Given the description of an element on the screen output the (x, y) to click on. 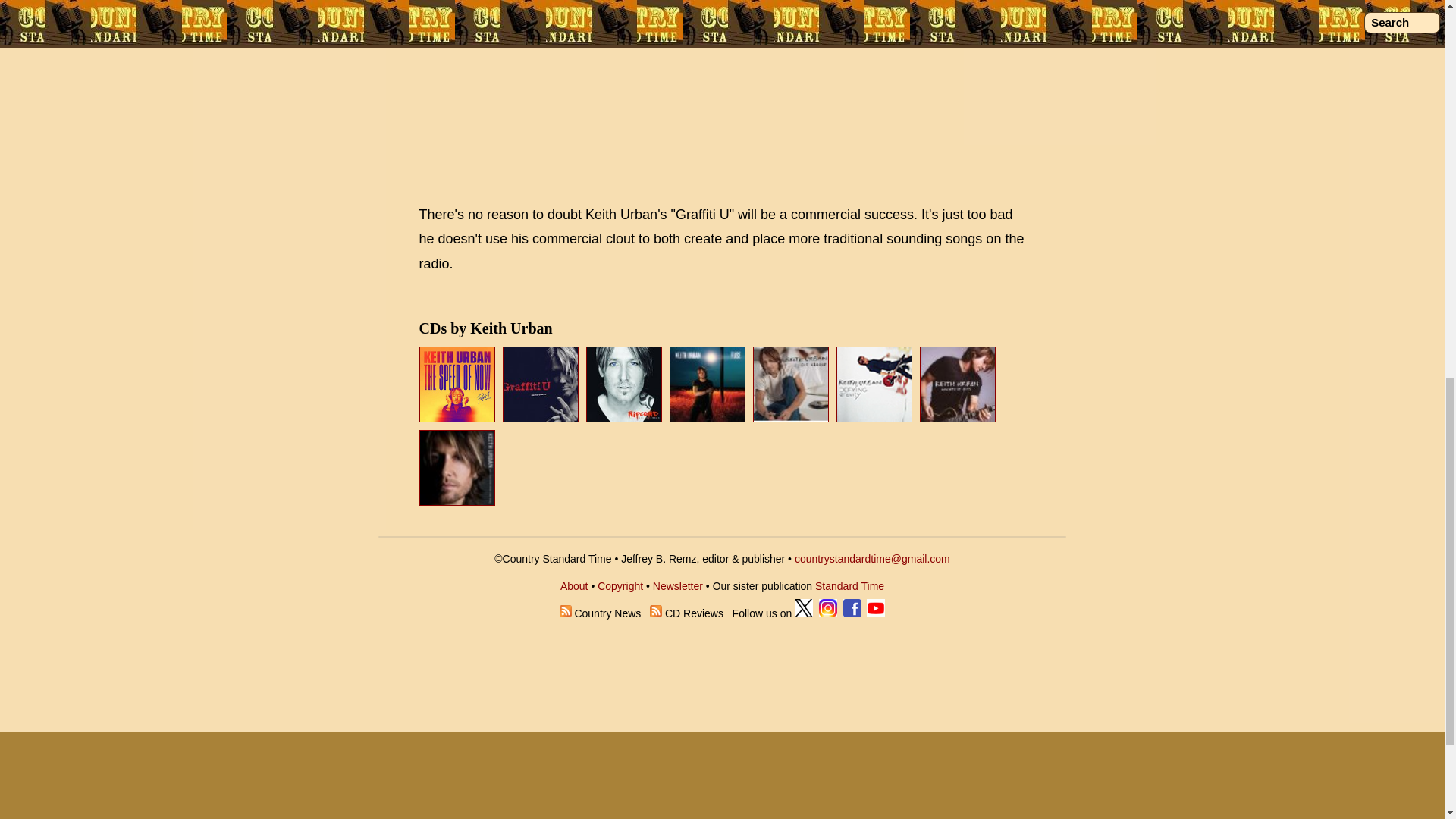
THE SPEED OF NOW Part 1, 2020 (458, 417)
Fuse, 2013 (709, 417)
Defying Gravity, 2009 (873, 384)
Subscribe to Country Music CD Reviews (655, 613)
Graffiti U, 2018 (542, 417)
Copyright (619, 585)
Newsletter (677, 585)
Subscribe to Country Music News (565, 613)
THE SPEED OF NOW Part 1, 2020 (457, 384)
Ripcord, 2016 (625, 417)
Standard Time (849, 585)
Defying Gravity, 2009 (875, 417)
About (574, 585)
Advertisement (722, 94)
Keith Urban Greatest Hits: 18 Kids, 2007 (957, 384)
